Given the description of an element on the screen output the (x, y) to click on. 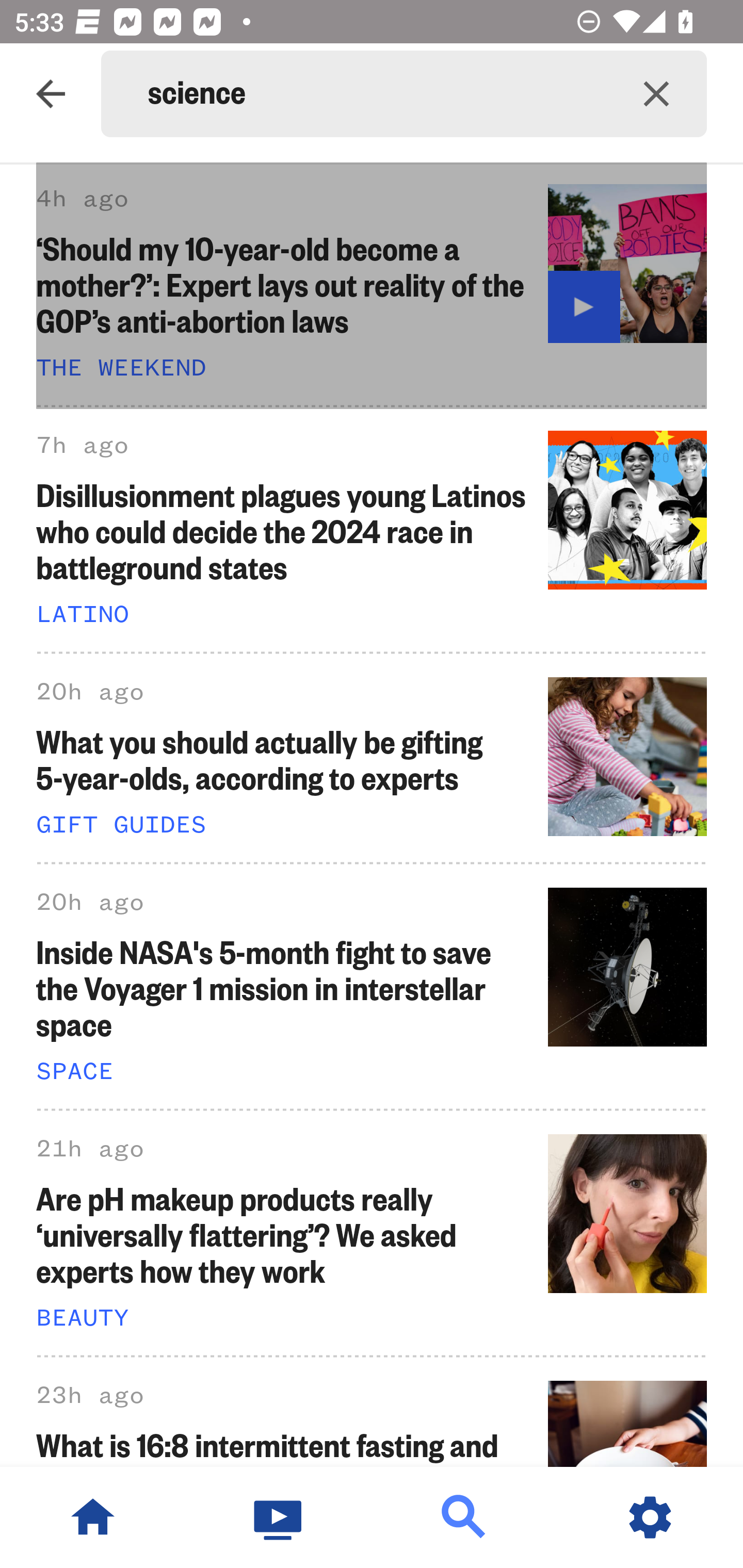
Navigate up (50, 93)
Clear query (656, 93)
science (376, 94)
NBC News Home (92, 1517)
Watch (278, 1517)
Settings (650, 1517)
